Given the description of an element on the screen output the (x, y) to click on. 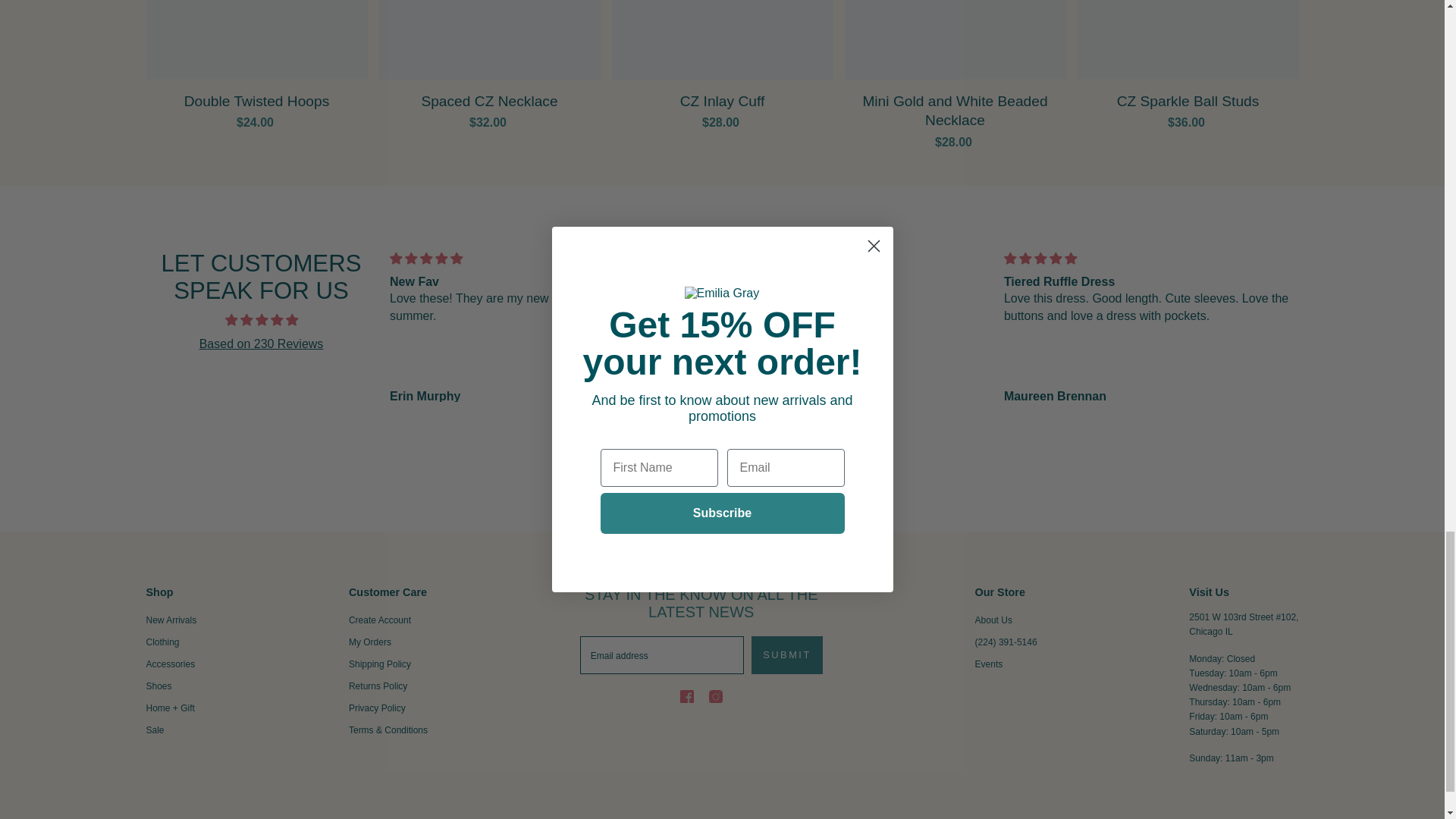
Facebook (686, 695)
Instagram (715, 695)
